Given the description of an element on the screen output the (x, y) to click on. 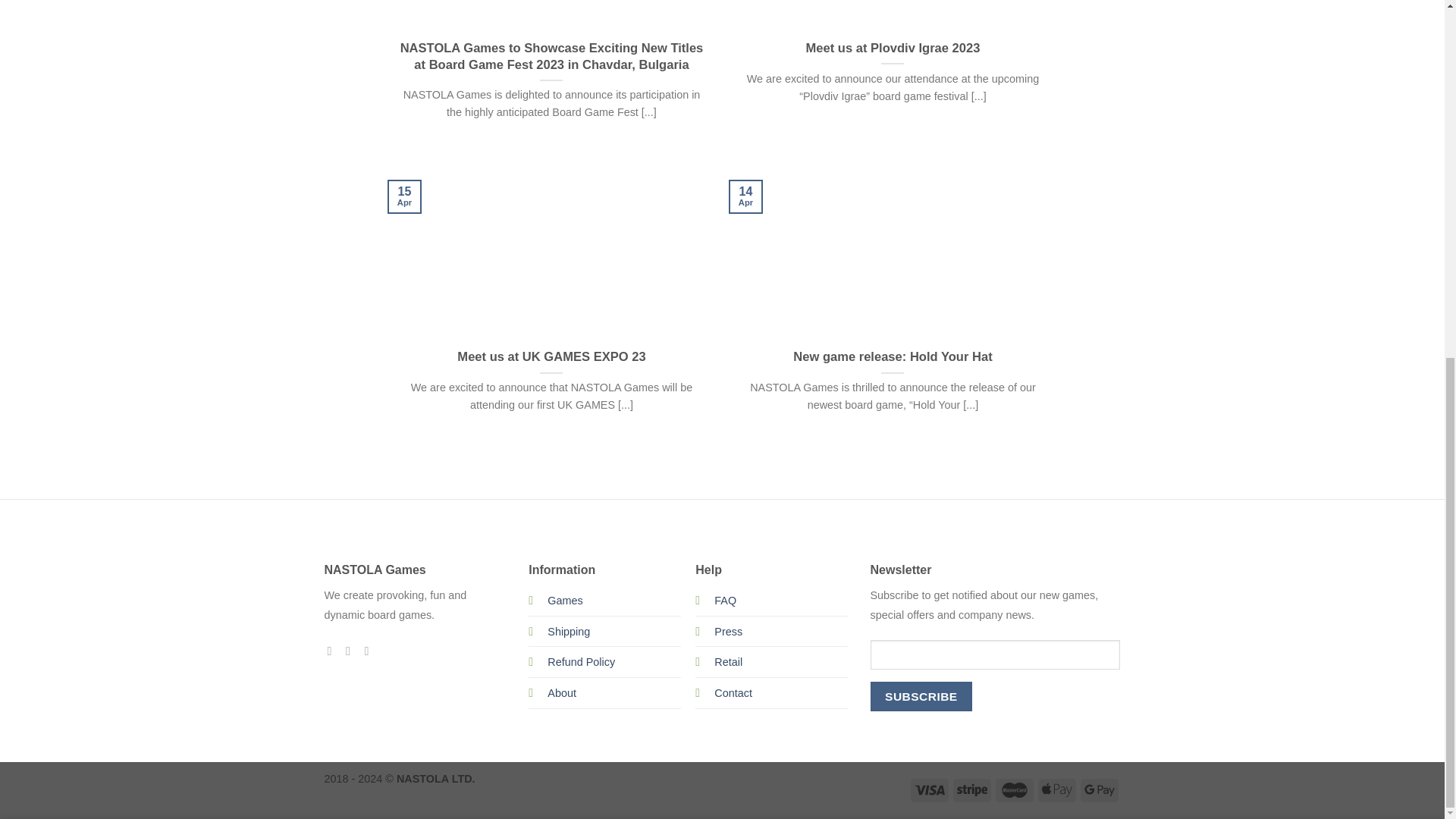
Subscribe (921, 696)
Meet us at UK GAMES EXPO 23 (551, 356)
New game release: Hold Your Hat (892, 356)
Refund Policy (580, 661)
Meet us at Plovdiv Igrae 2023 (892, 48)
Retail (728, 662)
FAQ (725, 600)
Games (564, 599)
About (561, 692)
Contact (733, 693)
Press (728, 631)
Shipping (568, 631)
Subscribe (921, 696)
